Given the description of an element on the screen output the (x, y) to click on. 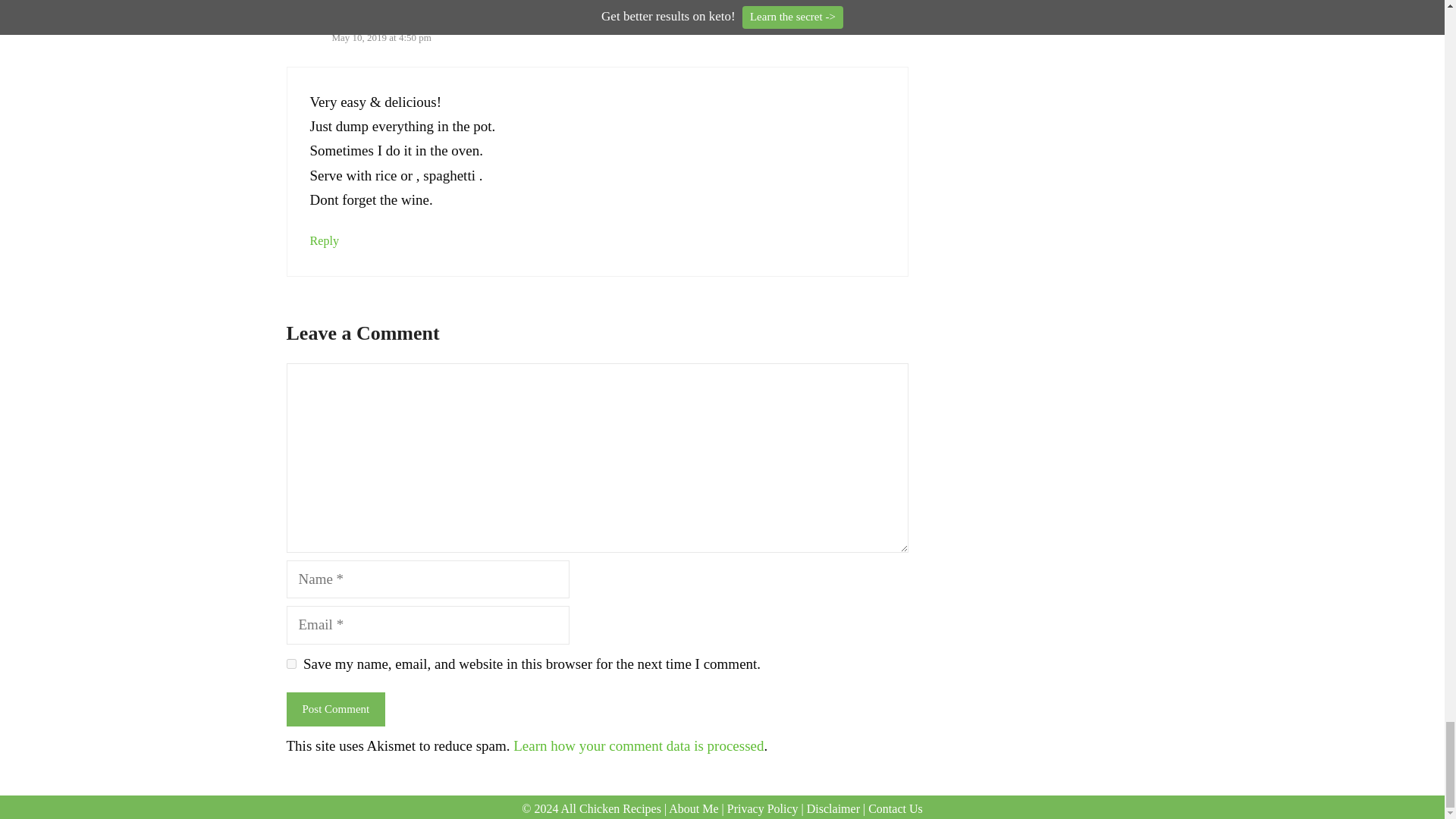
Post Comment (335, 709)
Judy (346, 17)
yes (291, 664)
May 10, 2019 at 4:50 pm (380, 37)
Reply (323, 240)
